Given the description of an element on the screen output the (x, y) to click on. 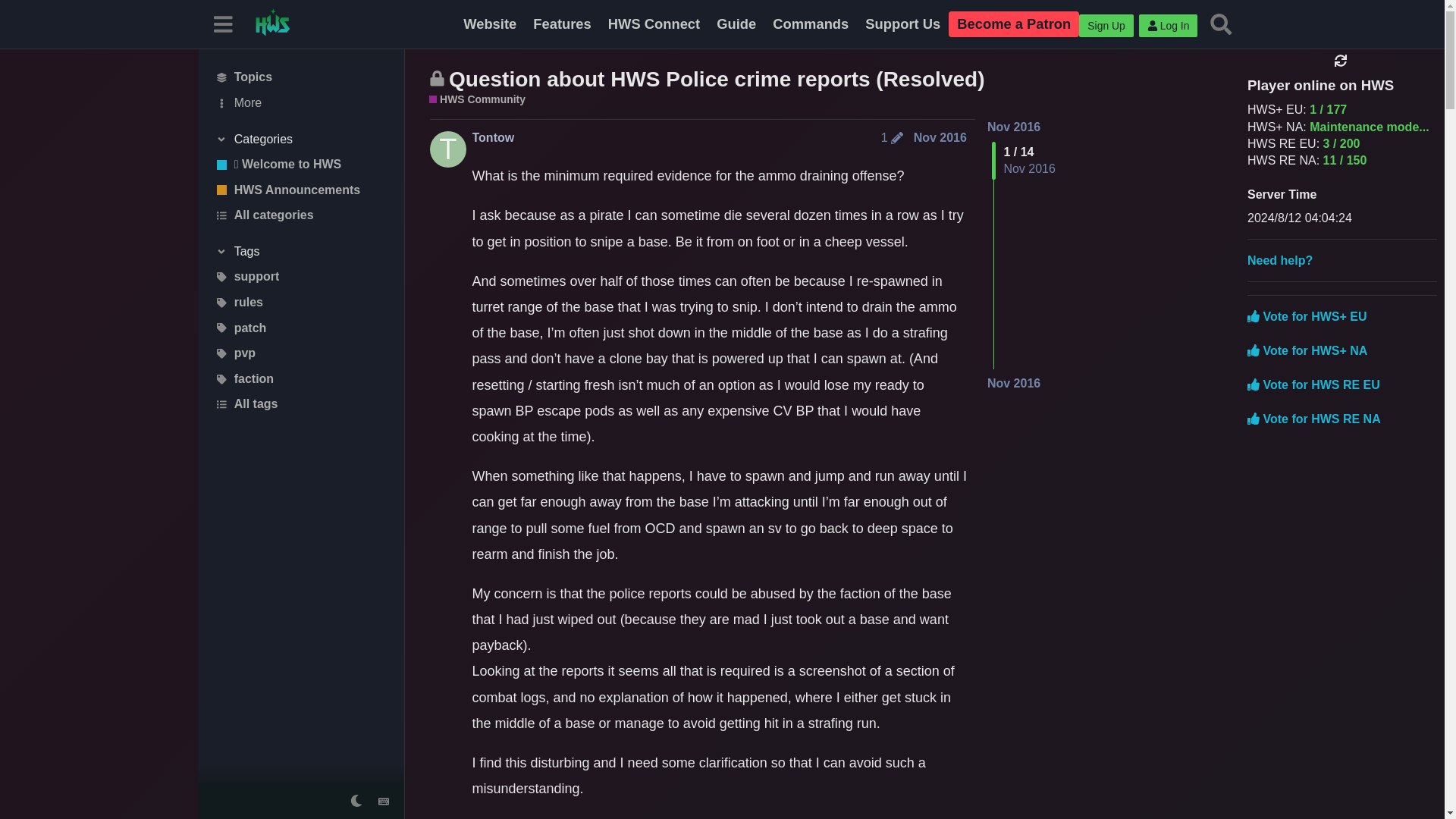
Commands (810, 23)
Search (1220, 23)
Categories (301, 139)
HWS Connect (653, 23)
HWS Announcements (301, 190)
Vote for HWS RE NA (1313, 418)
Support Us (903, 23)
Website (489, 23)
HWS Support Us (903, 23)
HWS Features (561, 23)
